Given the description of an element on the screen output the (x, y) to click on. 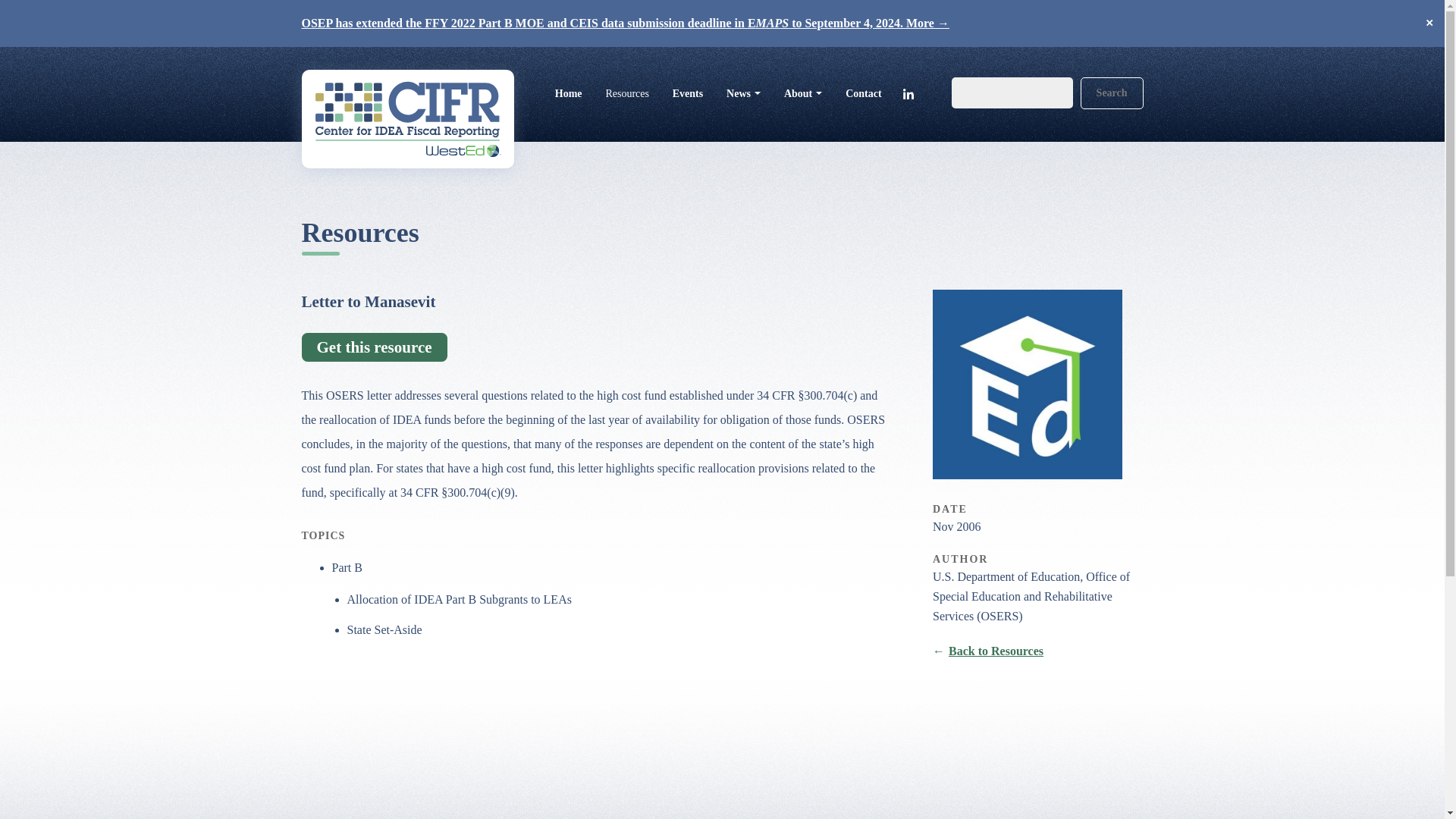
About (801, 93)
News (743, 93)
Contact (863, 93)
Get this resource (373, 346)
Search (1111, 92)
Back to Resources (988, 650)
Events (687, 93)
Search (1111, 92)
Resources (627, 93)
